Given the description of an element on the screen output the (x, y) to click on. 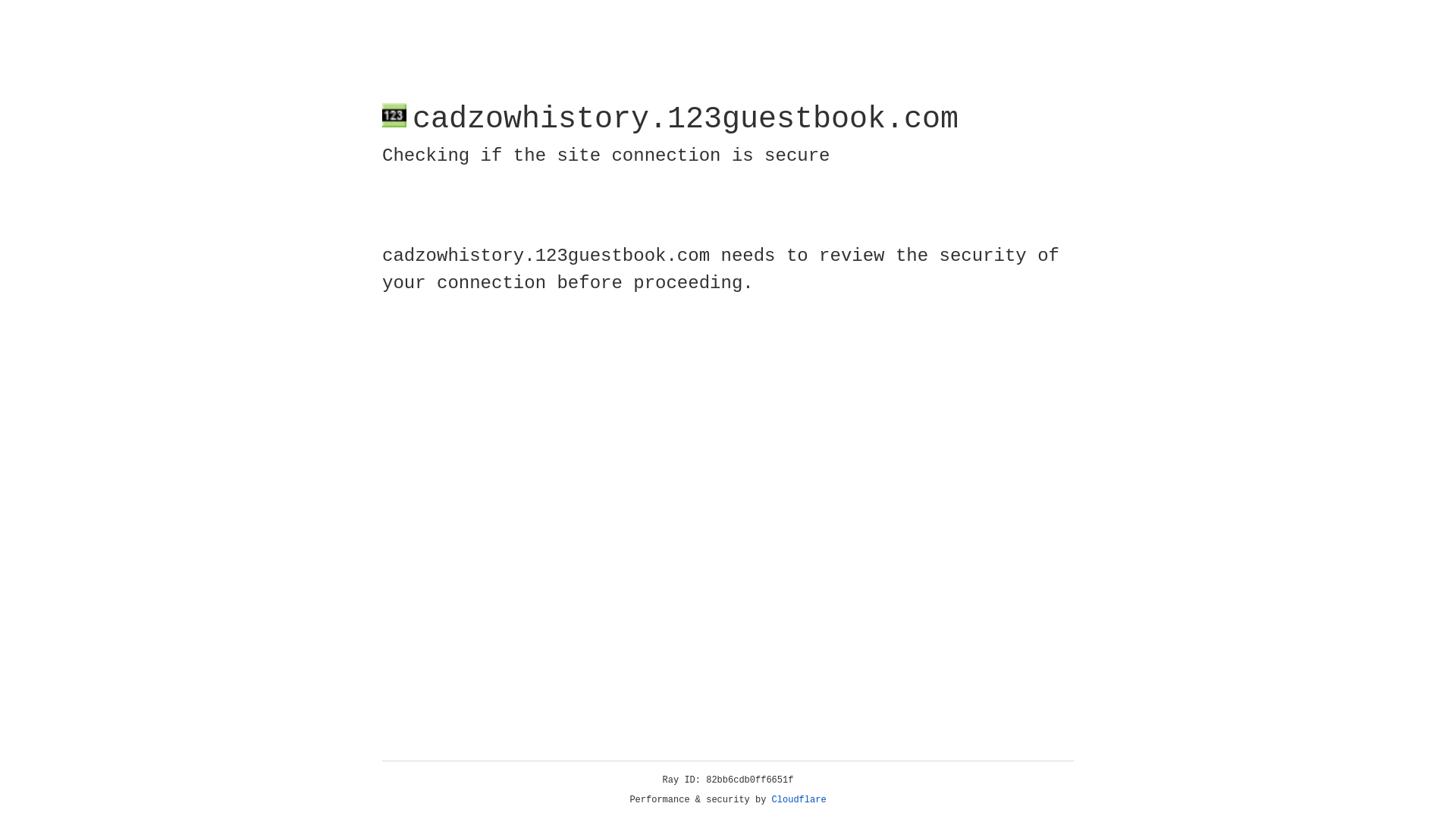
Cloudflare Element type: text (798, 799)
